Given the description of an element on the screen output the (x, y) to click on. 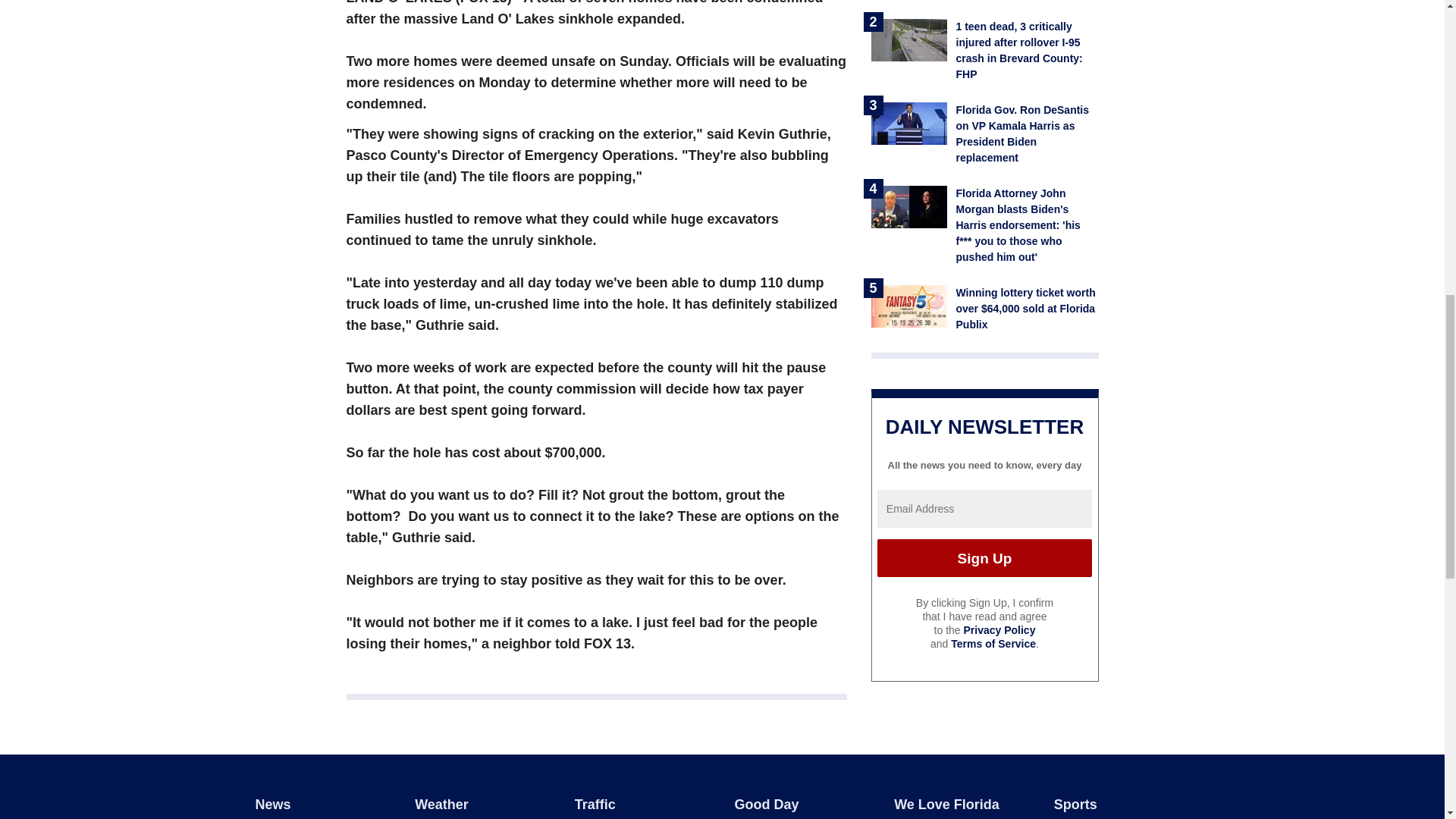
Sign Up (984, 557)
